Given the description of an element on the screen output the (x, y) to click on. 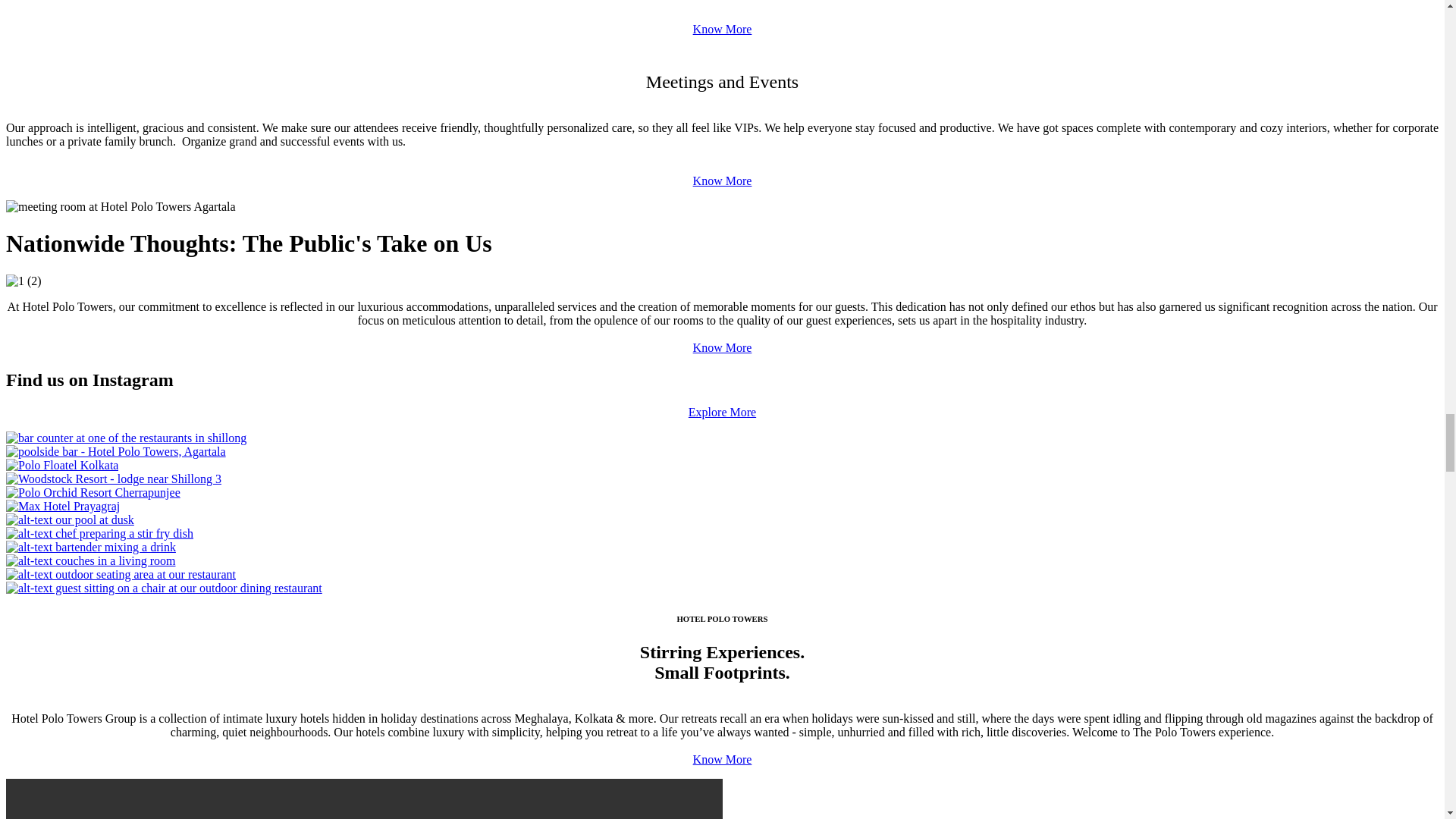
Know More (722, 29)
Know More (722, 180)
